Given the description of an element on the screen output the (x, y) to click on. 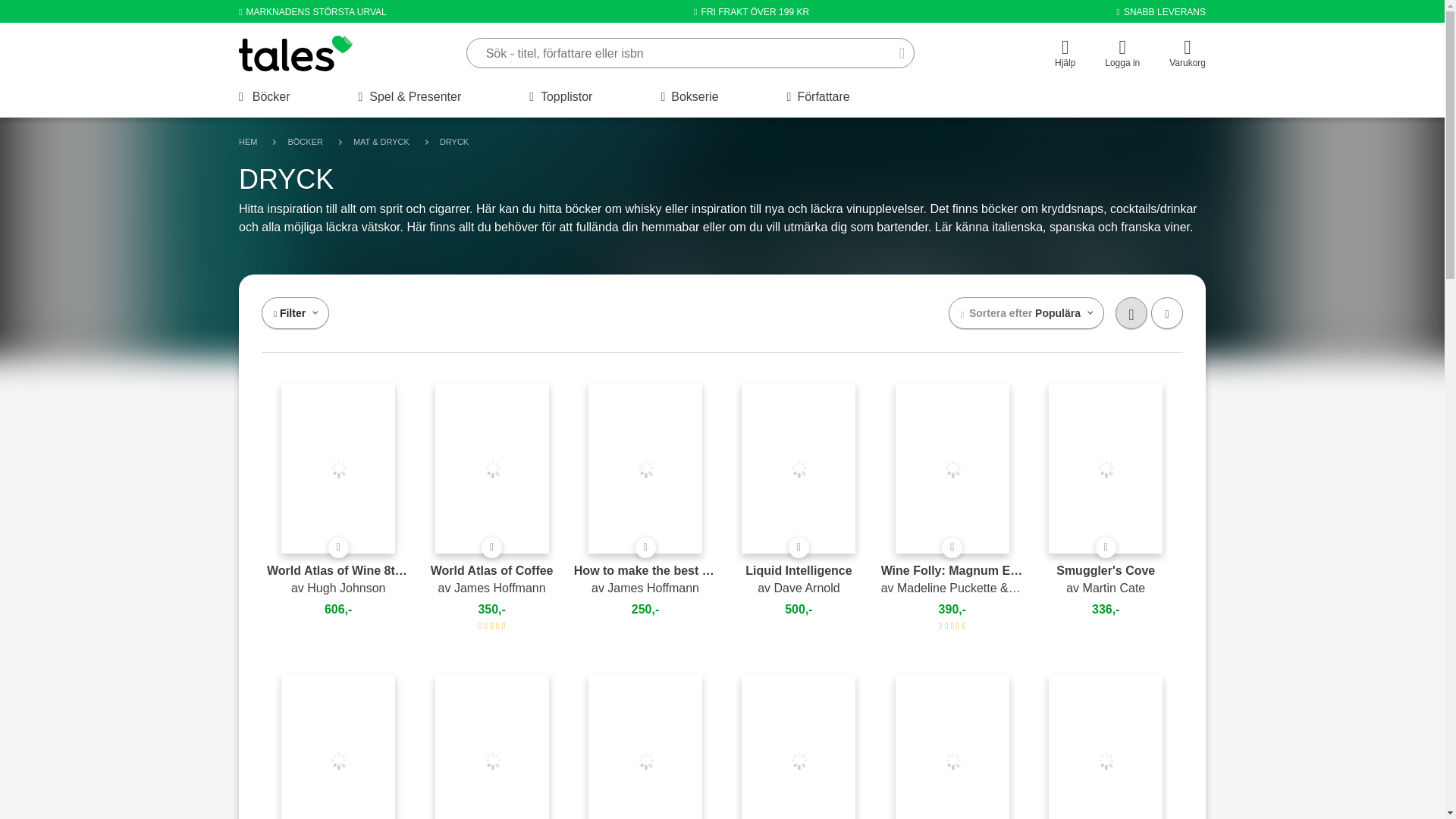
Topplistor (560, 97)
Logga in (1122, 55)
Findes som fysisk bog (799, 547)
Visa i kolumner (1131, 313)
Findes som fysisk bog (1106, 547)
Findes som fysisk bog (645, 547)
Bokserie (689, 97)
Visa som rader (1166, 313)
tales.se (295, 53)
Findes som fysisk bog (339, 547)
Findes som fysisk bog (952, 547)
Varukorg (1187, 55)
Findes som fysisk bog (491, 547)
